Given the description of an element on the screen output the (x, y) to click on. 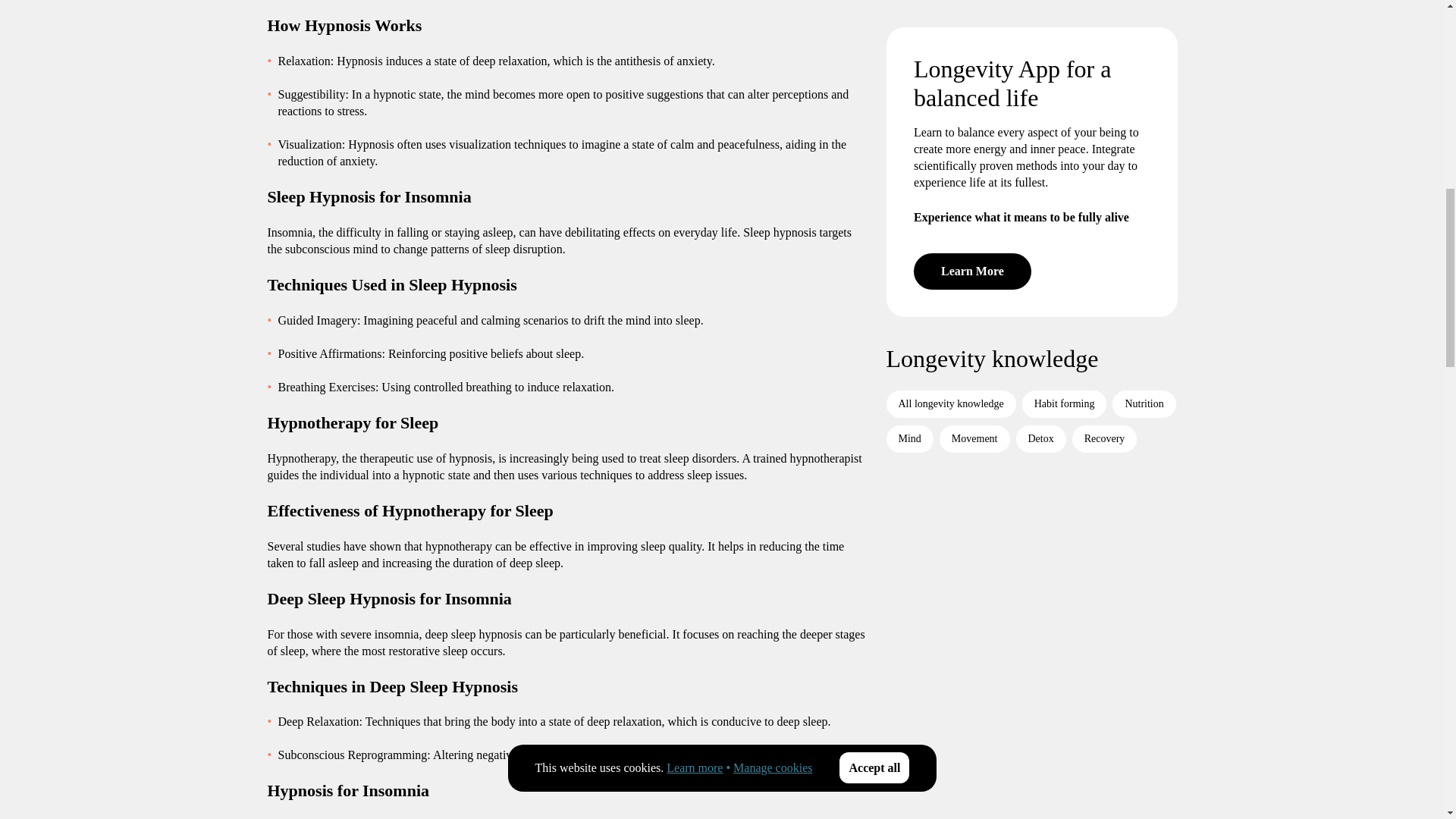
All longevity knowledge (949, 198)
Recovery (1104, 234)
Detox (1040, 234)
Movement (974, 234)
Nutrition (1143, 198)
Mind (909, 234)
Habit forming (1064, 198)
Learn More (971, 66)
